Given the description of an element on the screen output the (x, y) to click on. 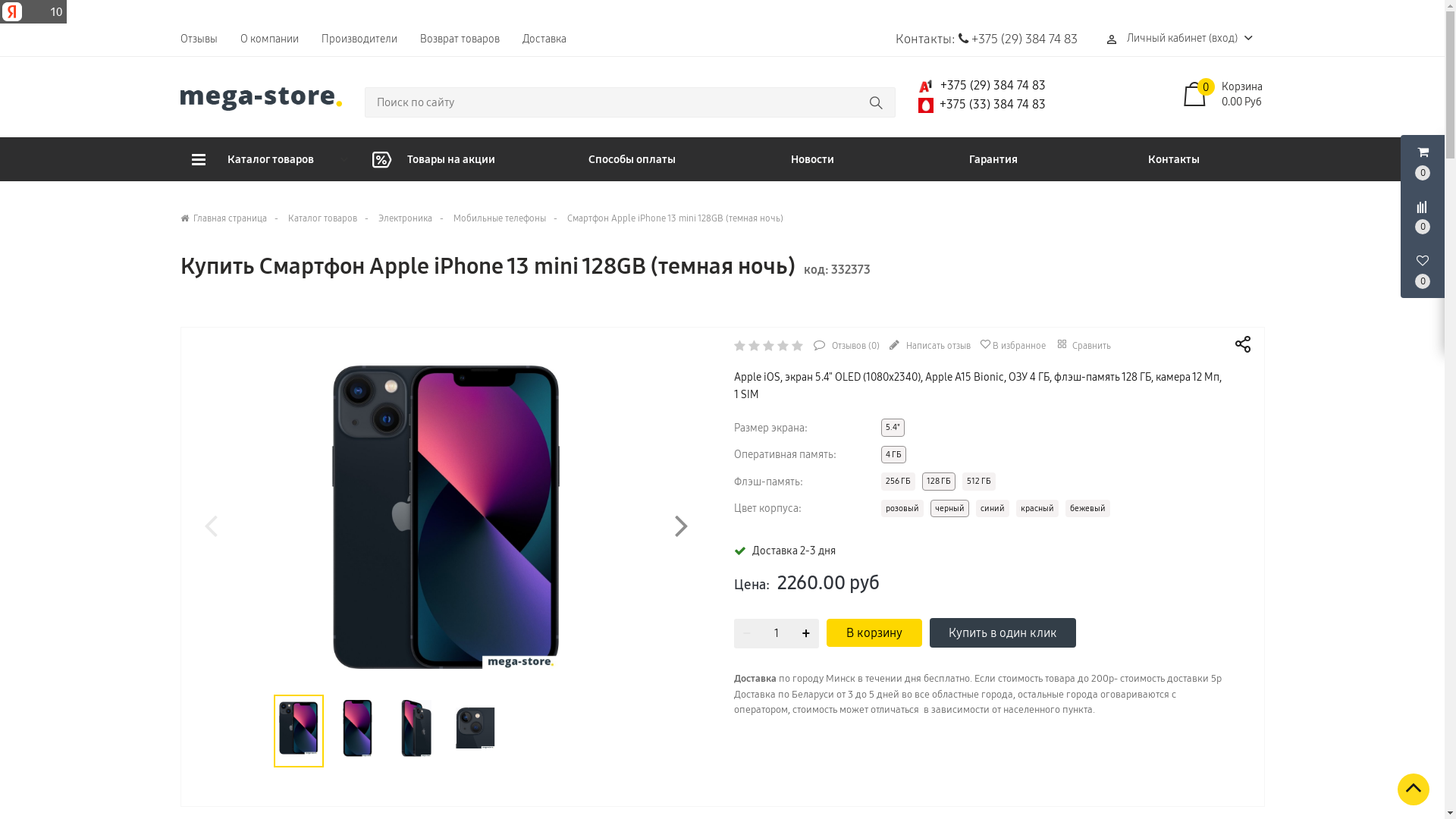
5.4" Element type: text (892, 427)
  Element type: text (1046, 104)
